Given the description of an element on the screen output the (x, y) to click on. 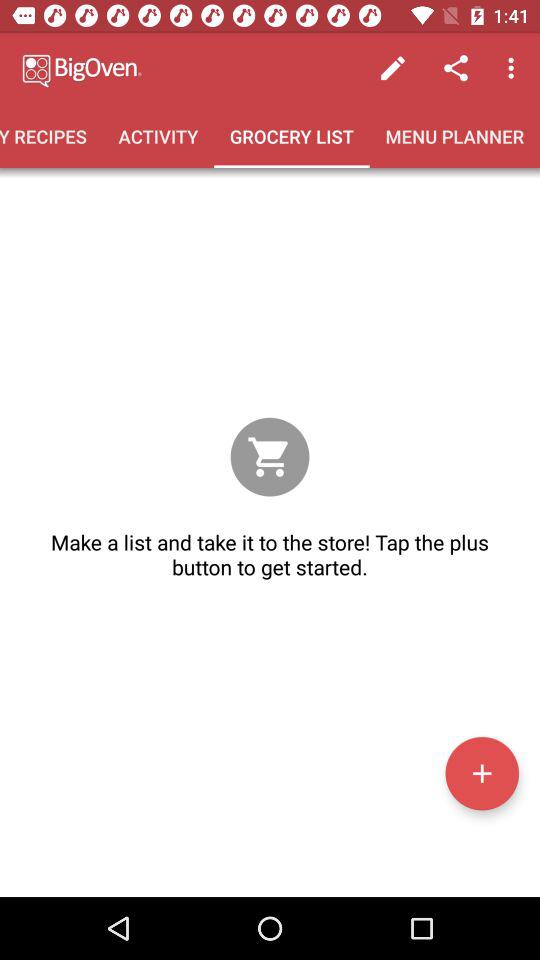
start a list (482, 773)
